Given the description of an element on the screen output the (x, y) to click on. 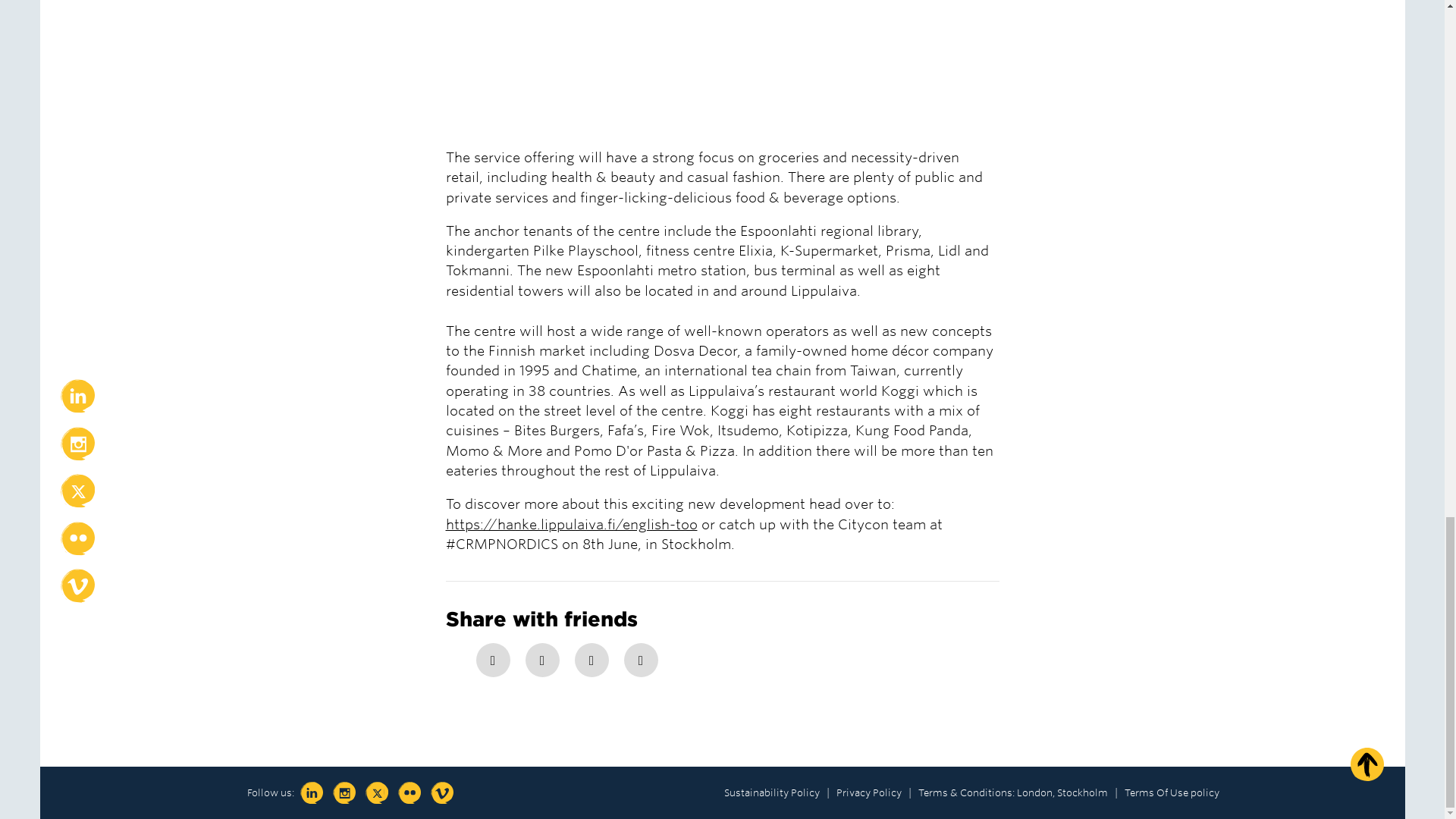
Sustainability Policy (770, 792)
Twitter (541, 659)
YouTube video player (657, 71)
Privacy Policy (868, 792)
Facebook (493, 659)
Pinterest (591, 659)
Stockholm (1082, 792)
LinkedIn (640, 659)
London (1033, 792)
Terms Of Use policy (1171, 792)
